Given the description of an element on the screen output the (x, y) to click on. 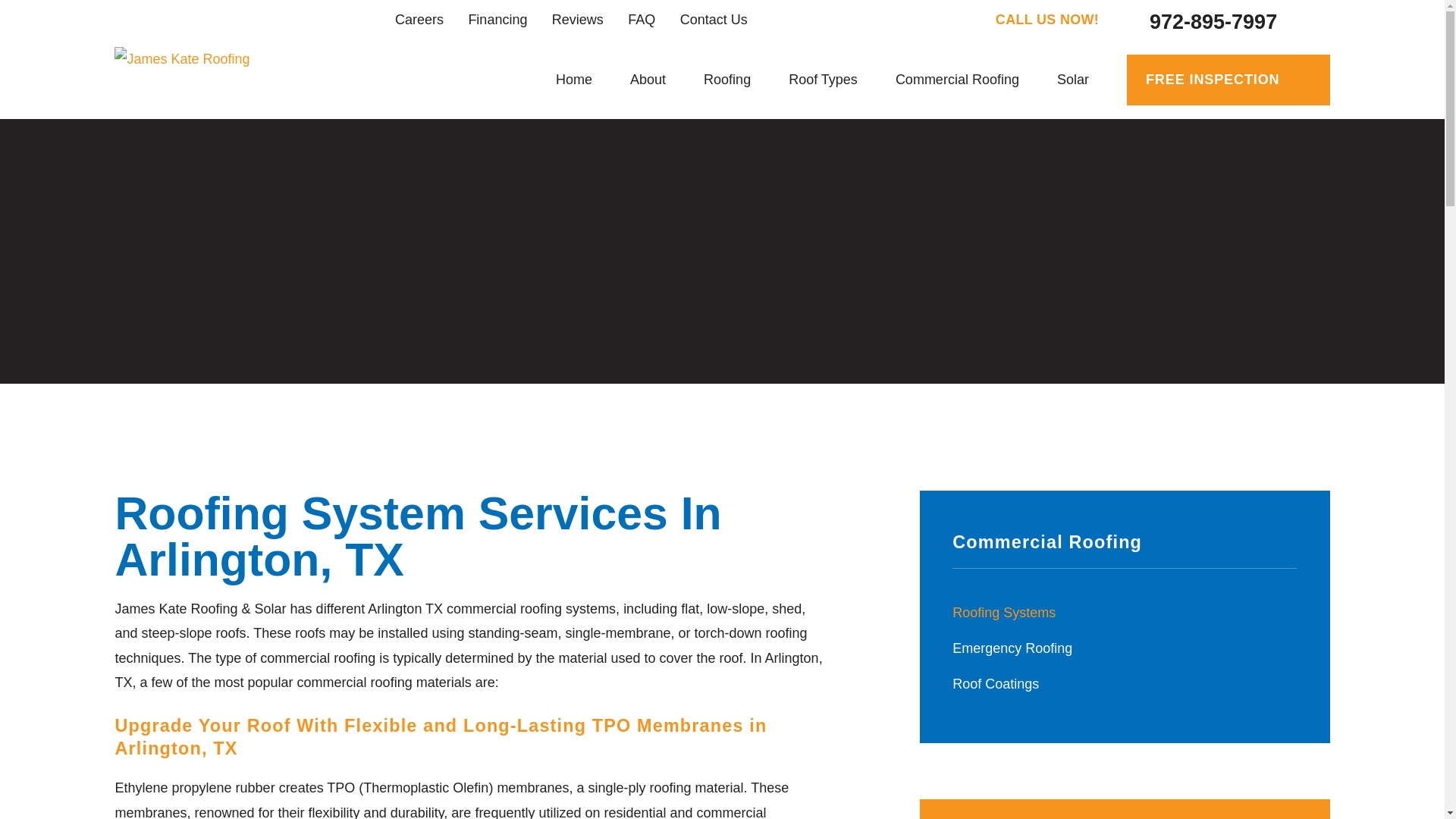
Reviews (577, 19)
Home (181, 58)
FAQ (641, 19)
Contact Us (713, 19)
Financing (497, 19)
Roofing (727, 80)
Roof Types (823, 80)
Careers (419, 19)
Commercial Roofing (957, 80)
972-895-7997 (1194, 20)
